Given the description of an element on the screen output the (x, y) to click on. 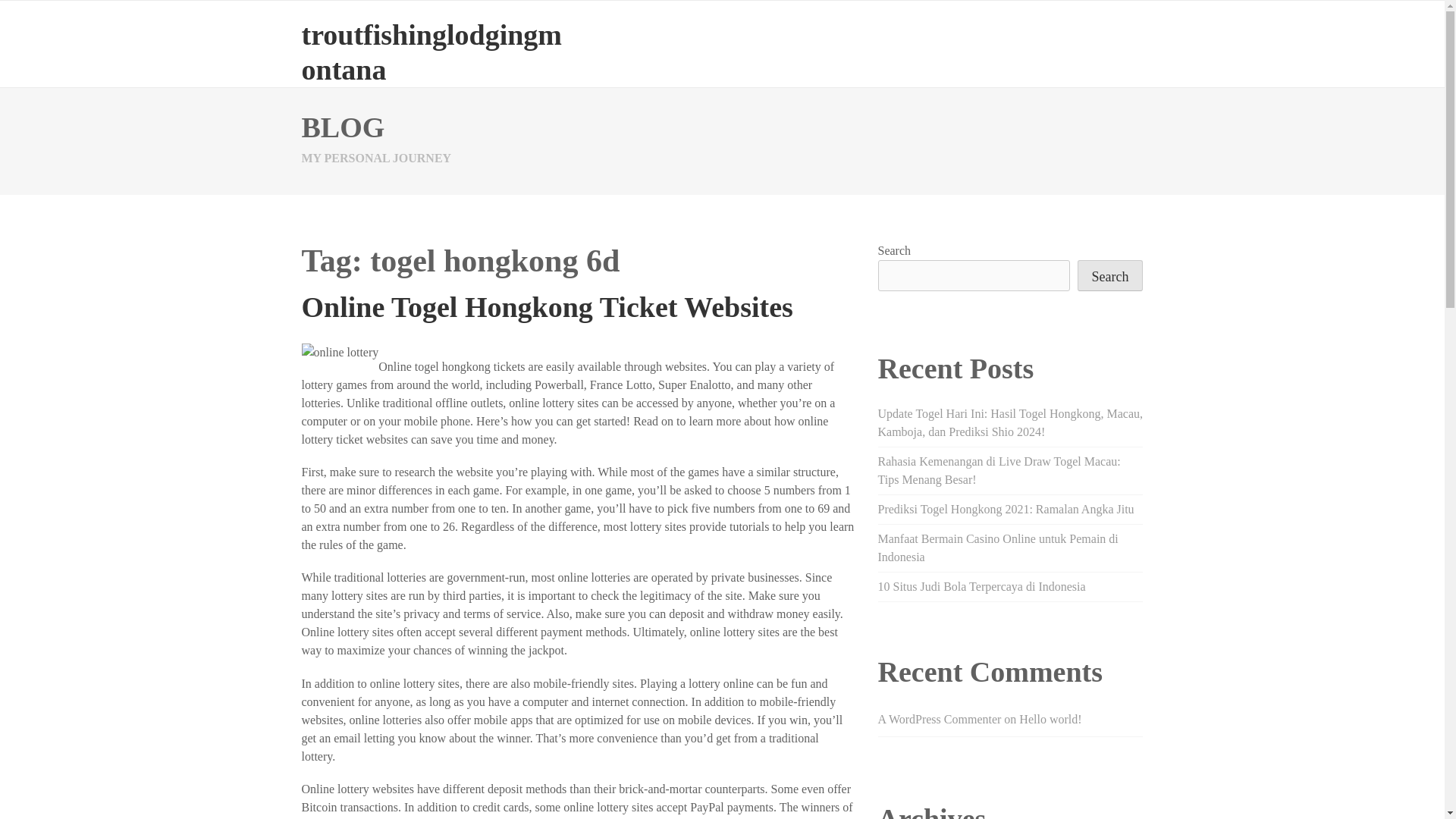
Online Togel Hongkong Ticket Websites (547, 306)
10 Situs Judi Bola Terpercaya di Indonesia (981, 585)
troutfishinglodgingmontana (431, 51)
A WordPress Commenter (939, 718)
Prediksi Togel Hongkong 2021: Ramalan Angka Jitu (1005, 508)
Manfaat Bermain Casino Online untuk Pemain di Indonesia (997, 547)
Search (1109, 275)
